Given the description of an element on the screen output the (x, y) to click on. 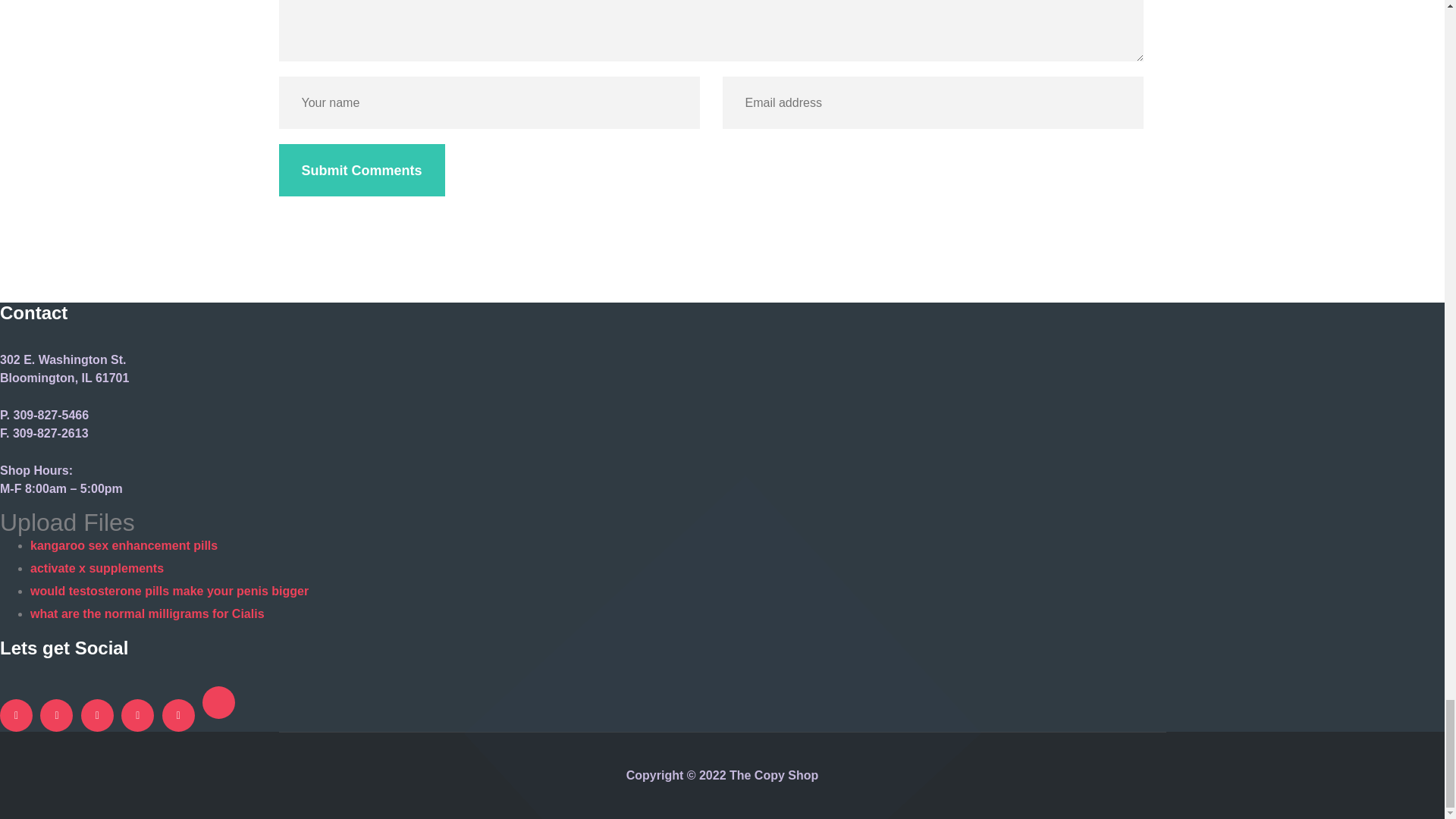
kangaroo sex enhancement pills (123, 545)
Submit Comments (362, 170)
activate x supplements (96, 567)
would testosterone pills make your penis bigger (169, 590)
what are the normal milligrams for Cialis (147, 613)
